Given the description of an element on the screen output the (x, y) to click on. 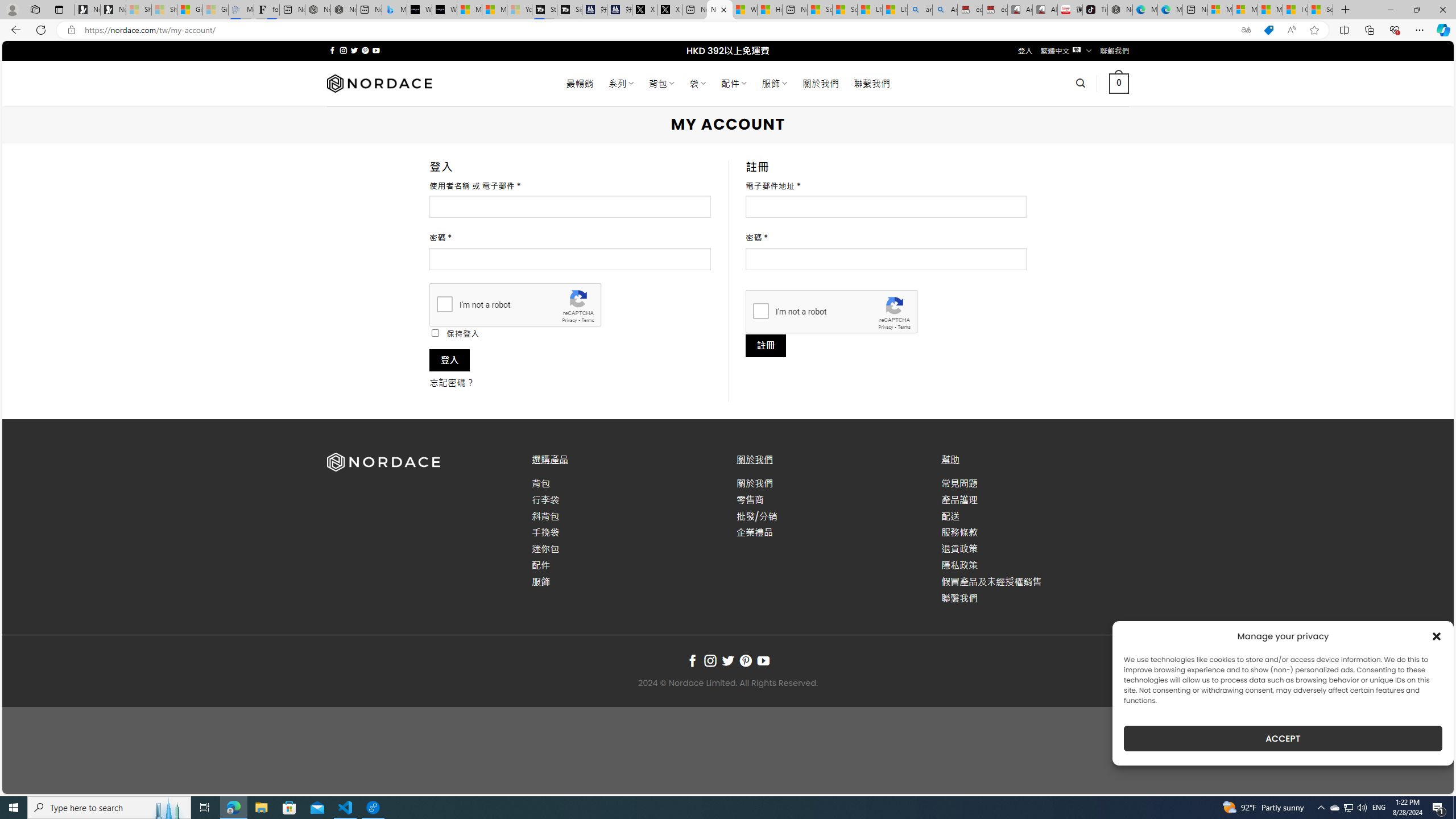
Follow on Instagram (710, 660)
What's the best AI voice generator? - voice.ai (443, 9)
Microsoft account | Privacy (1244, 9)
Terms (903, 326)
